Given the description of an element on the screen output the (x, y) to click on. 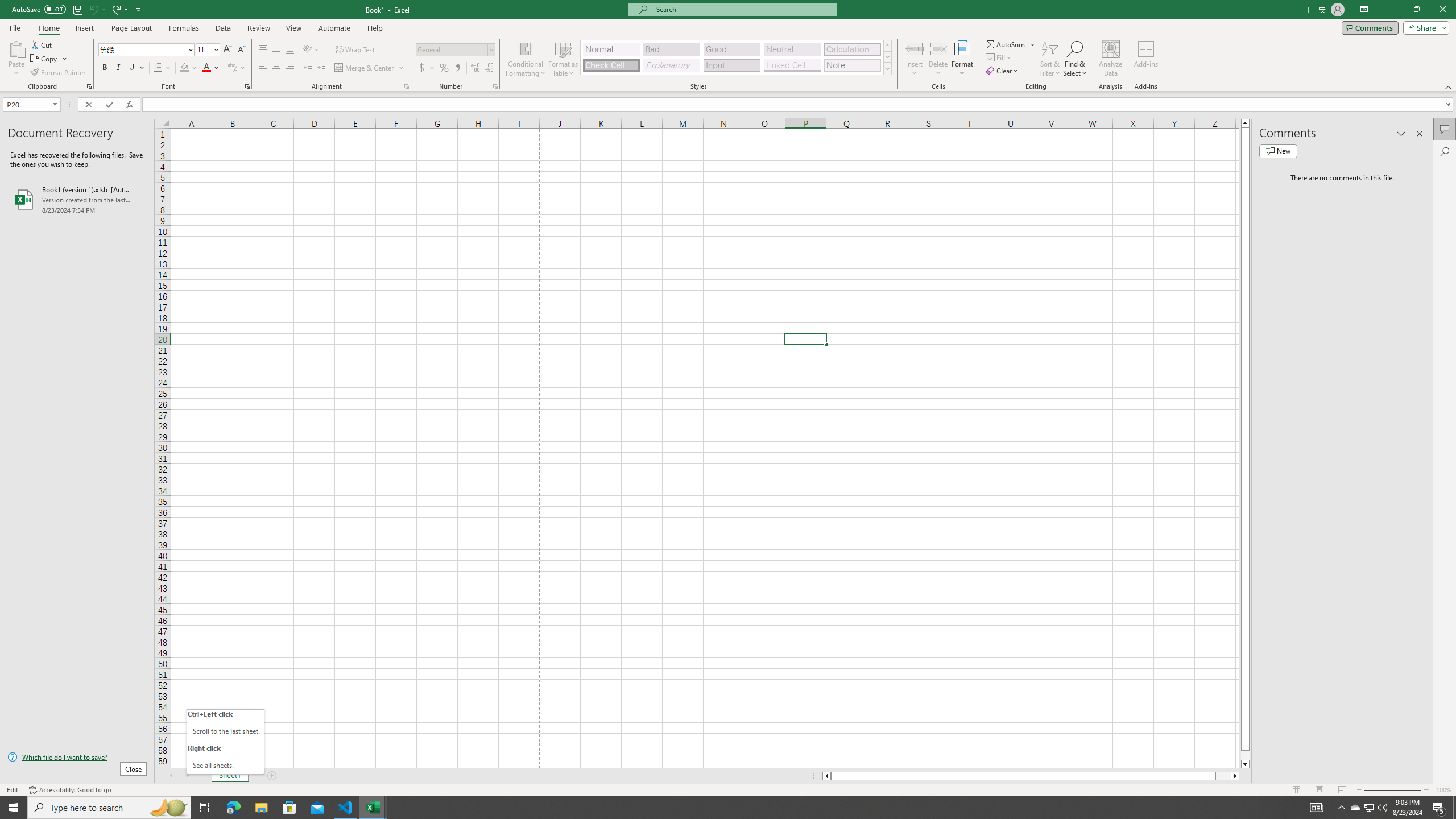
Show Phonetic Field (236, 67)
Wrap Text (355, 49)
Bad (671, 49)
Calculation (852, 49)
Delete Cells... (938, 48)
Format Painter (58, 72)
Format Cell Alignment (405, 85)
Underline (131, 67)
